Given the description of an element on the screen output the (x, y) to click on. 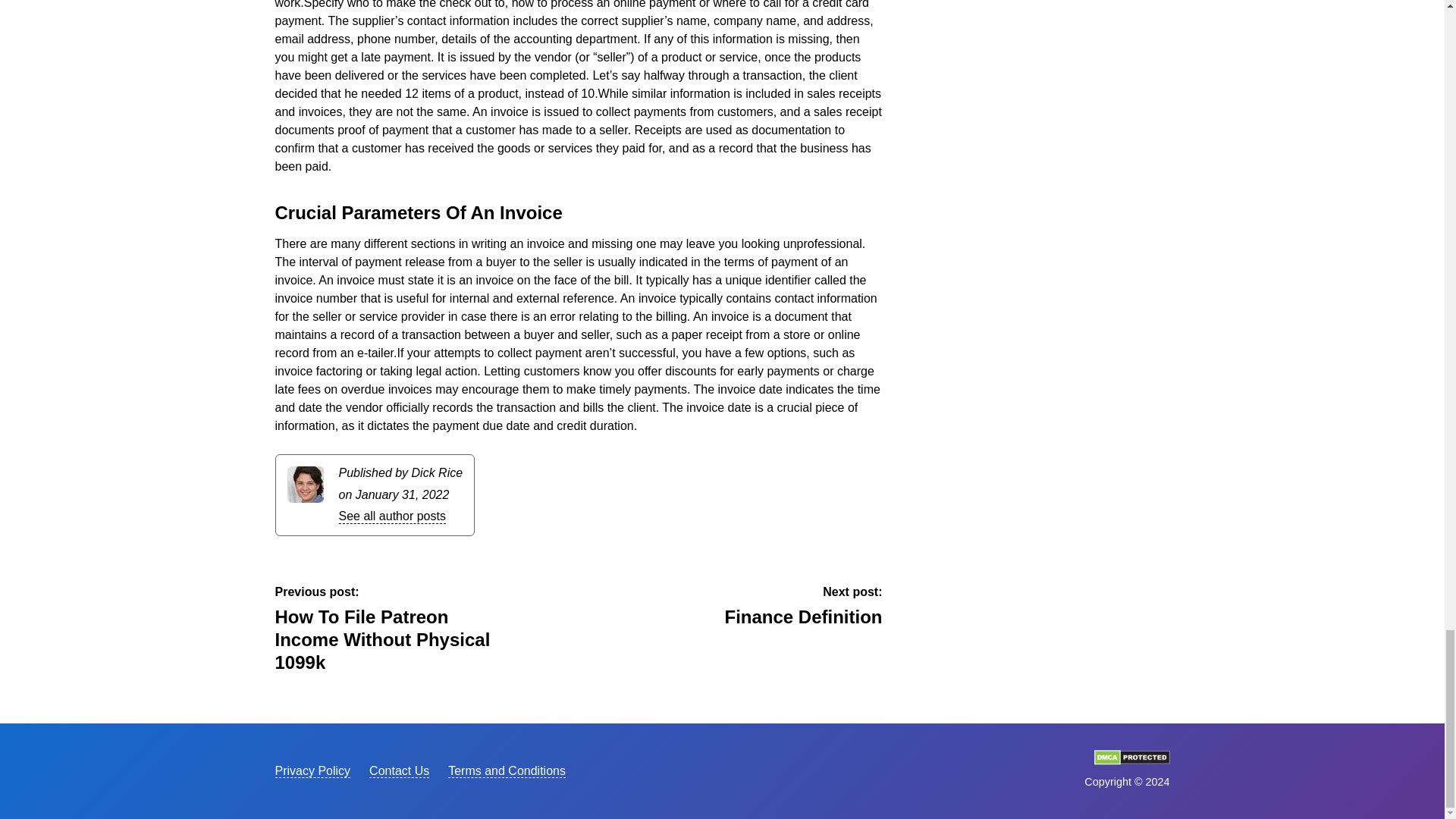
Contact Us (399, 771)
Content Protection by DMCA.com (767, 606)
Terms and Conditions (1131, 760)
Privacy Policy (507, 771)
See all author posts (312, 771)
